Given the description of an element on the screen output the (x, y) to click on. 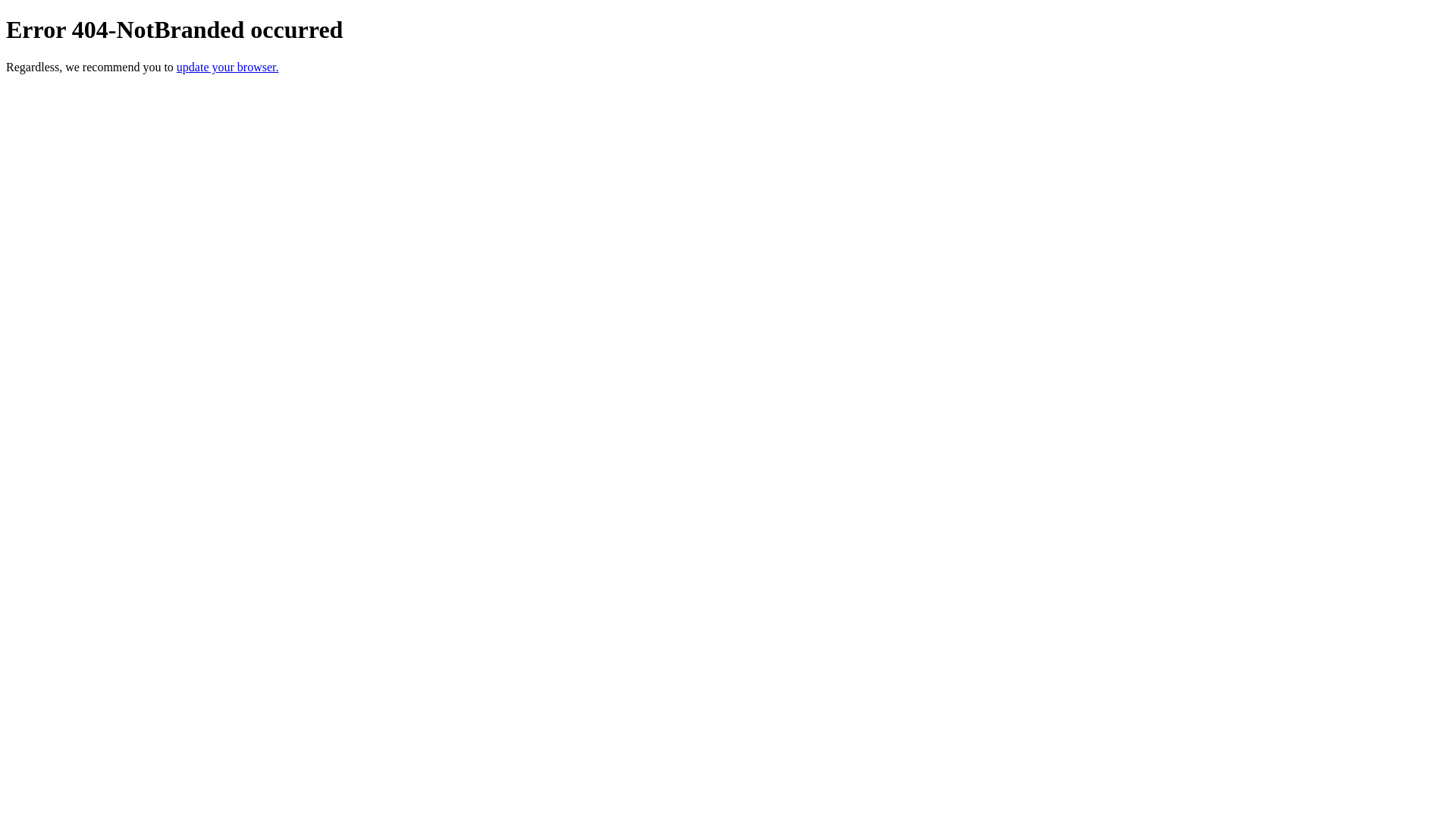
update your browser. Element type: text (227, 66)
